Given the description of an element on the screen output the (x, y) to click on. 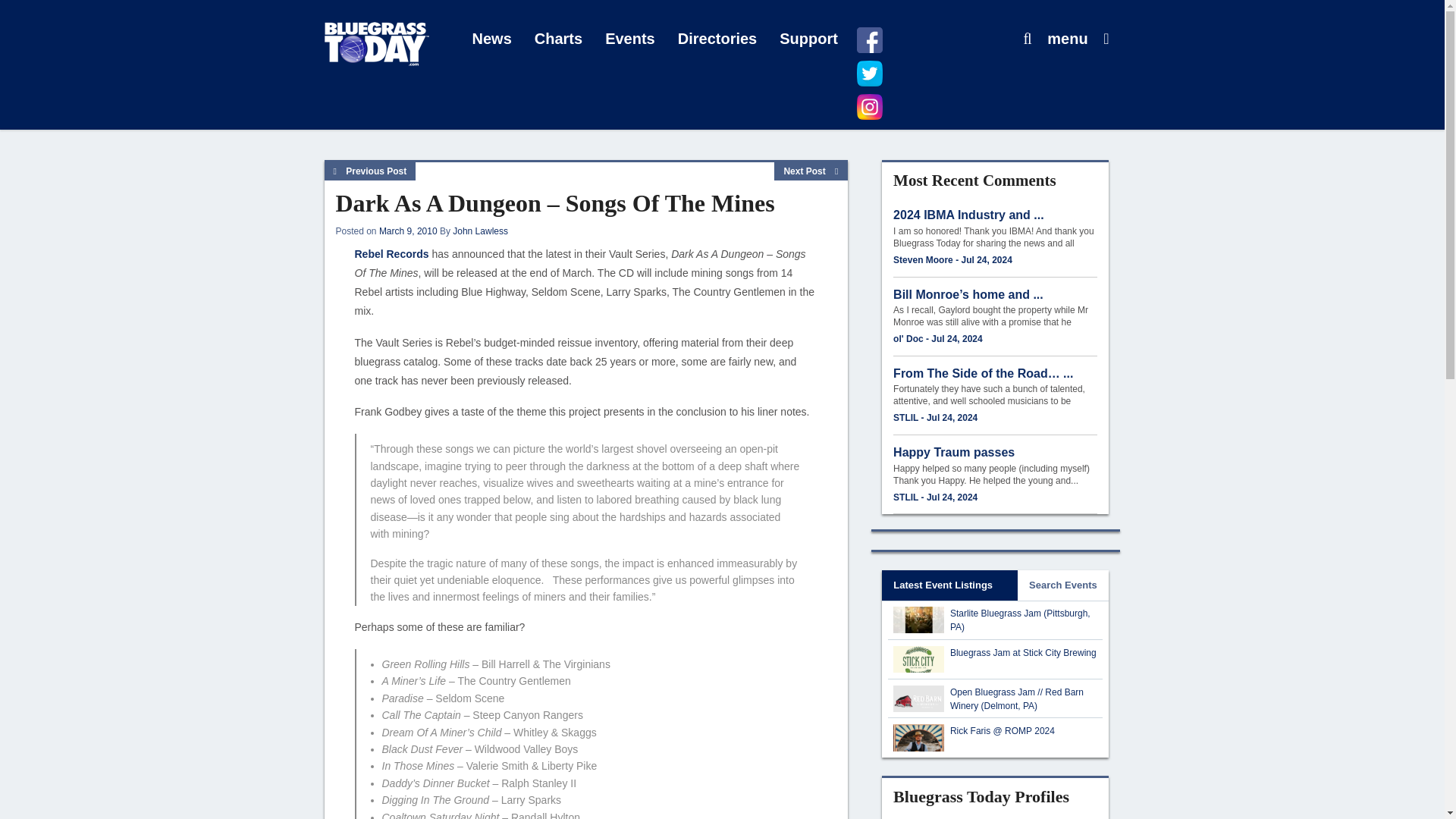
Support (808, 39)
March 9, 2010 (408, 231)
Rebel Records (392, 254)
John Lawless (480, 231)
Next Post (810, 171)
Charts (558, 39)
Visit Rebel Records online (392, 254)
Events (630, 39)
menu (1066, 39)
News (491, 39)
Directories (717, 39)
Previous Post (370, 171)
